Given the description of an element on the screen output the (x, y) to click on. 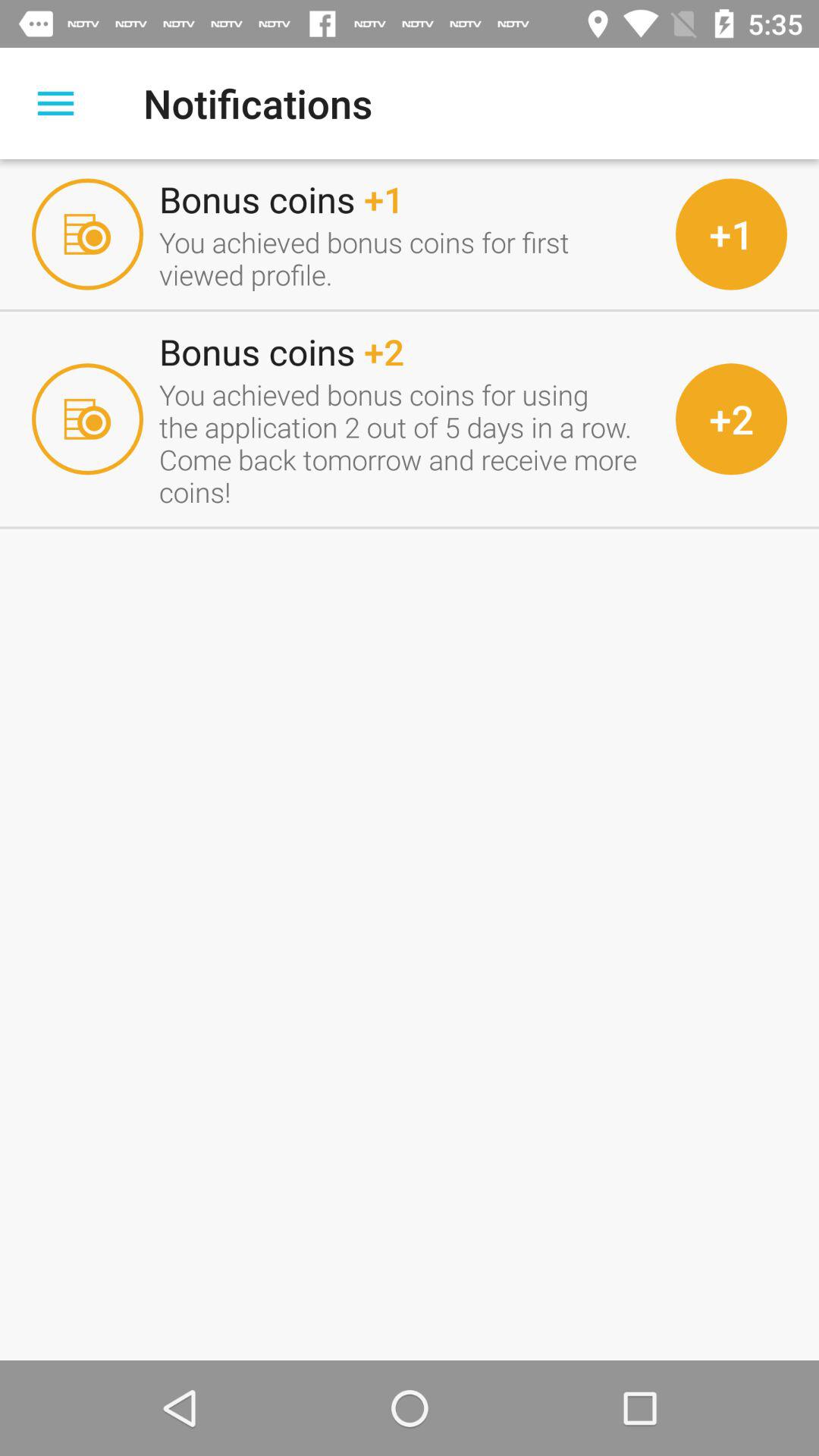
open main menu (55, 103)
